Given the description of an element on the screen output the (x, y) to click on. 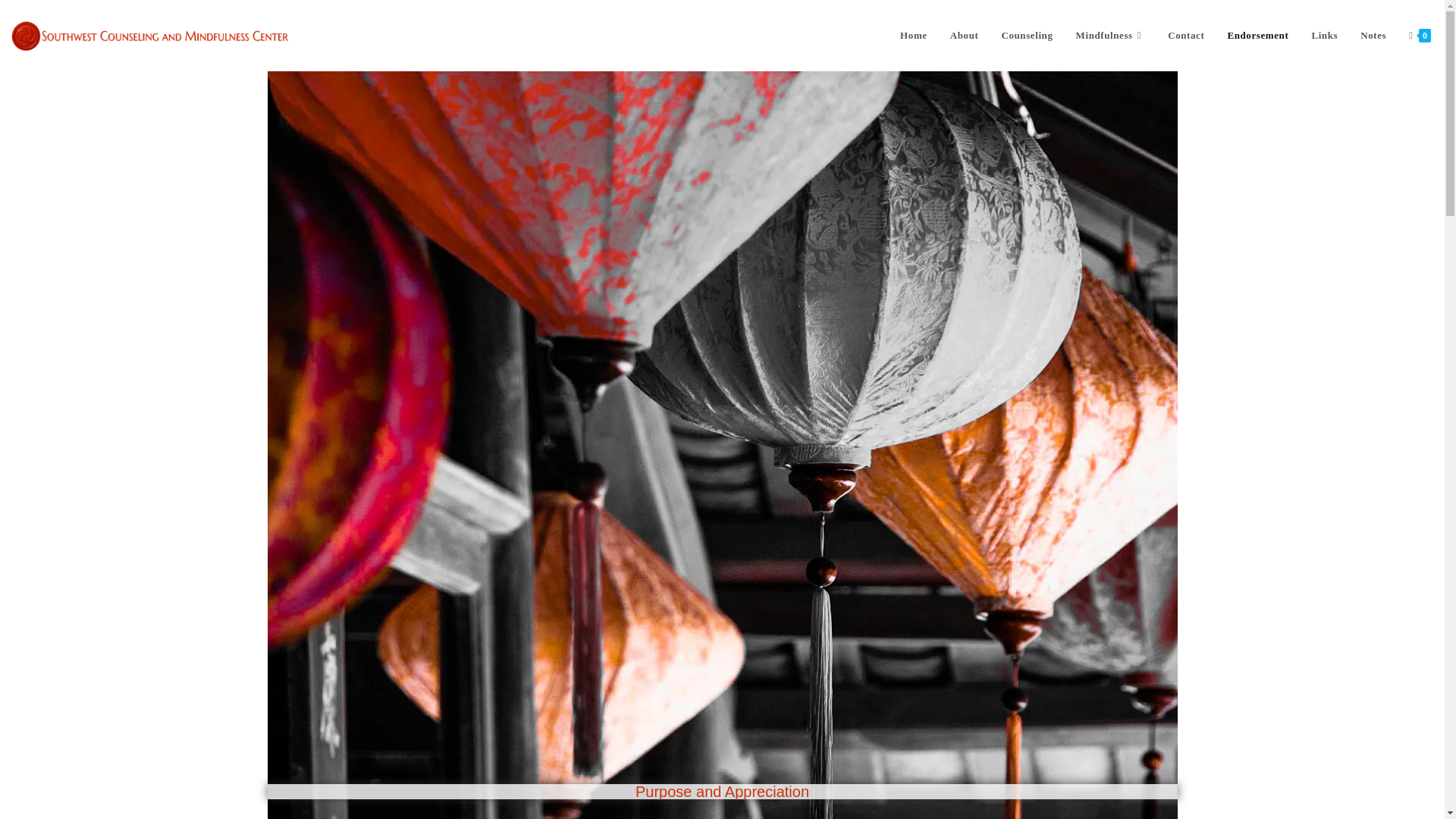
About (964, 35)
Contact (1185, 35)
Counseling (1027, 35)
Home (913, 35)
Mindfulness (1110, 35)
Endorsement (1257, 35)
